Given the description of an element on the screen output the (x, y) to click on. 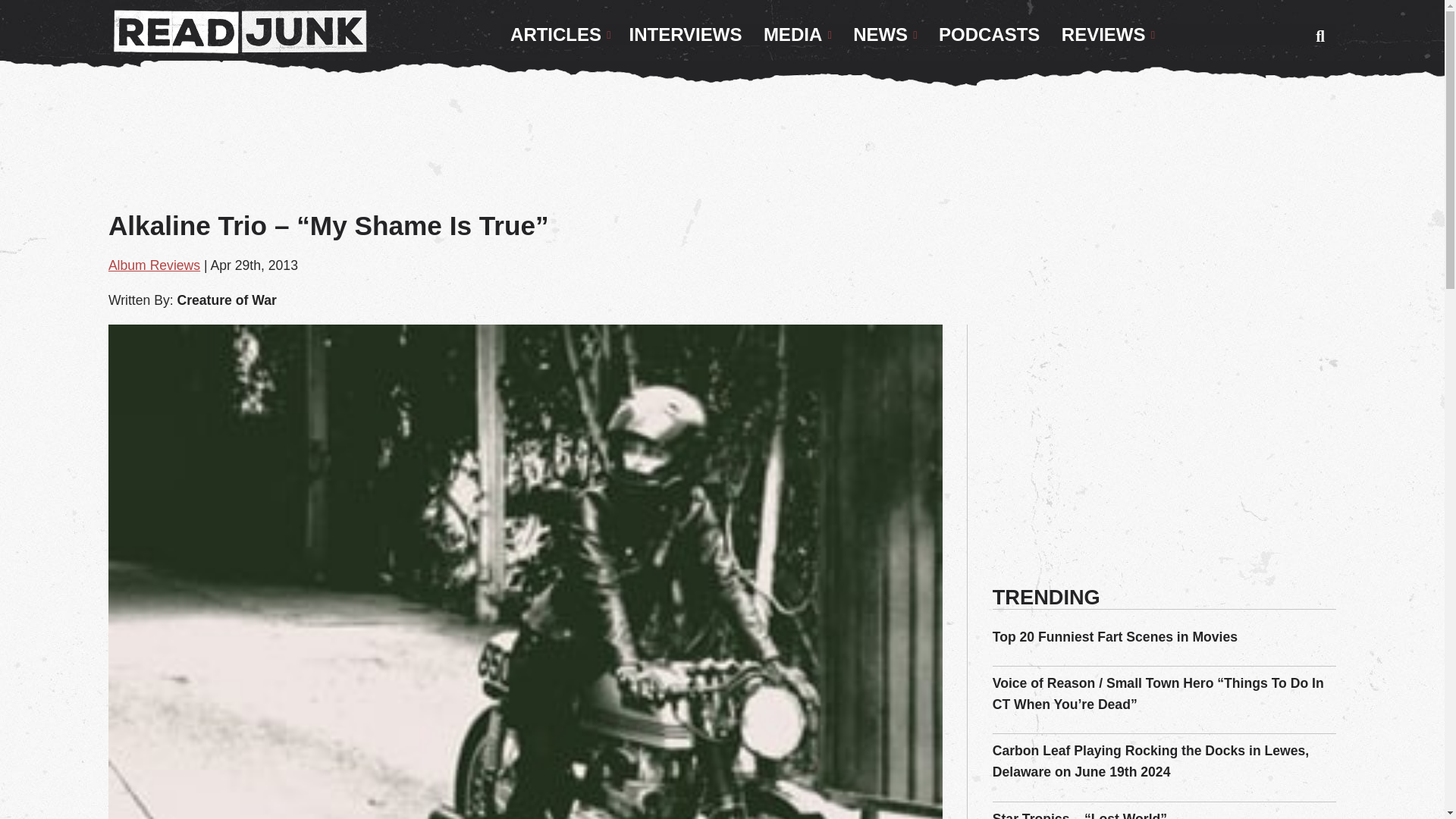
Advertisement (722, 155)
MEDIA (797, 34)
REVIEWS (1107, 34)
ARTICLES (560, 34)
NEWS (885, 34)
PODCASTS (989, 34)
INTERVIEWS (685, 34)
Posts by Creature of War (226, 299)
